Given the description of an element on the screen output the (x, y) to click on. 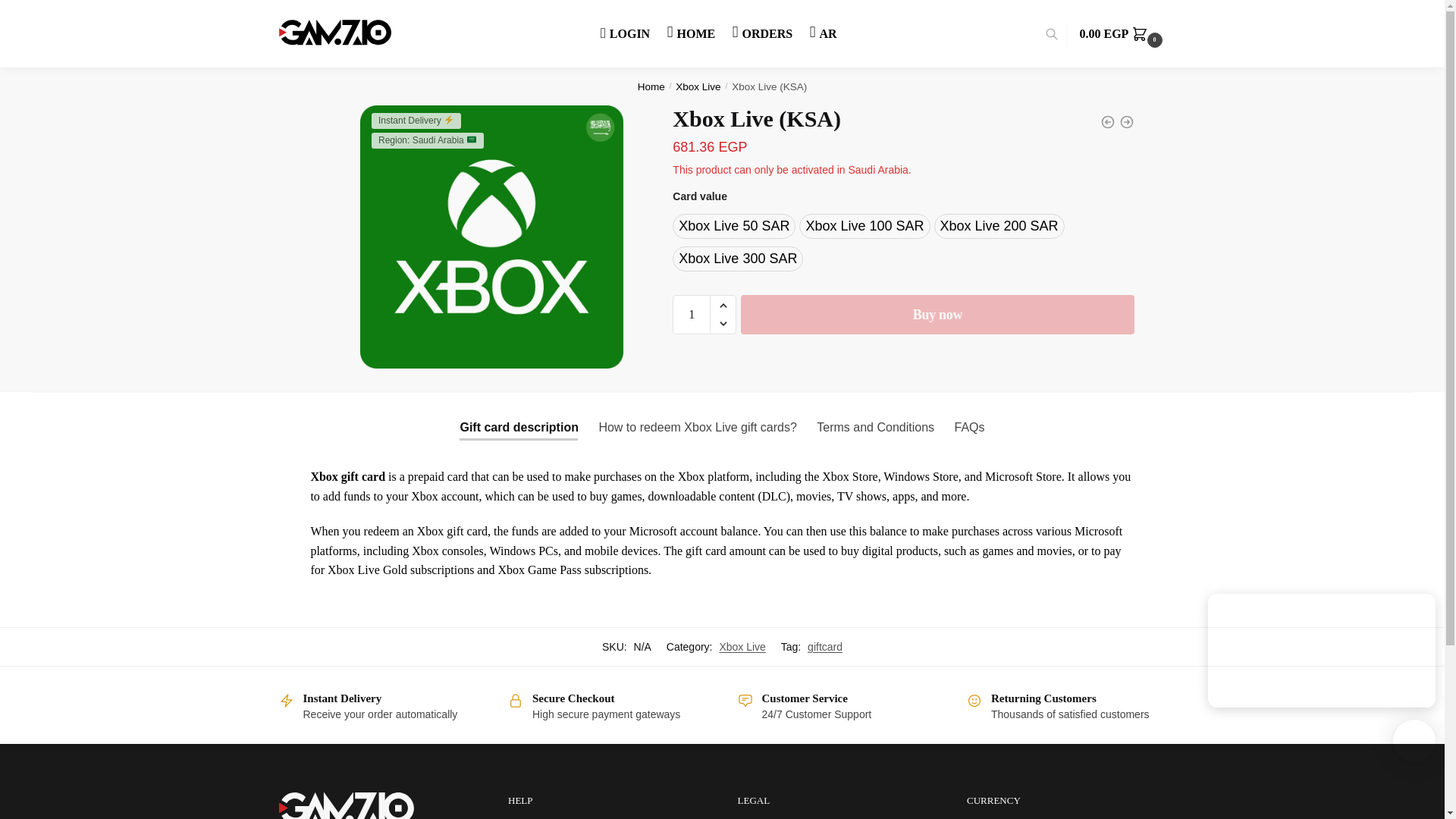
Home (651, 85)
HOME (691, 33)
Smartsupp widget popup (1321, 650)
View your shopping cart (1122, 33)
giftcard (825, 646)
Terms and Conditions (875, 427)
0.00 EGP 0 (1122, 33)
How to redeem Xbox Live gift cards? (697, 427)
Gift card description (518, 427)
click to zoom-in (491, 236)
Buy now (937, 314)
Smartsupp widget button (1414, 740)
FAQs (969, 427)
Xbox Live (697, 85)
1 (691, 314)
